Given the description of an element on the screen output the (x, y) to click on. 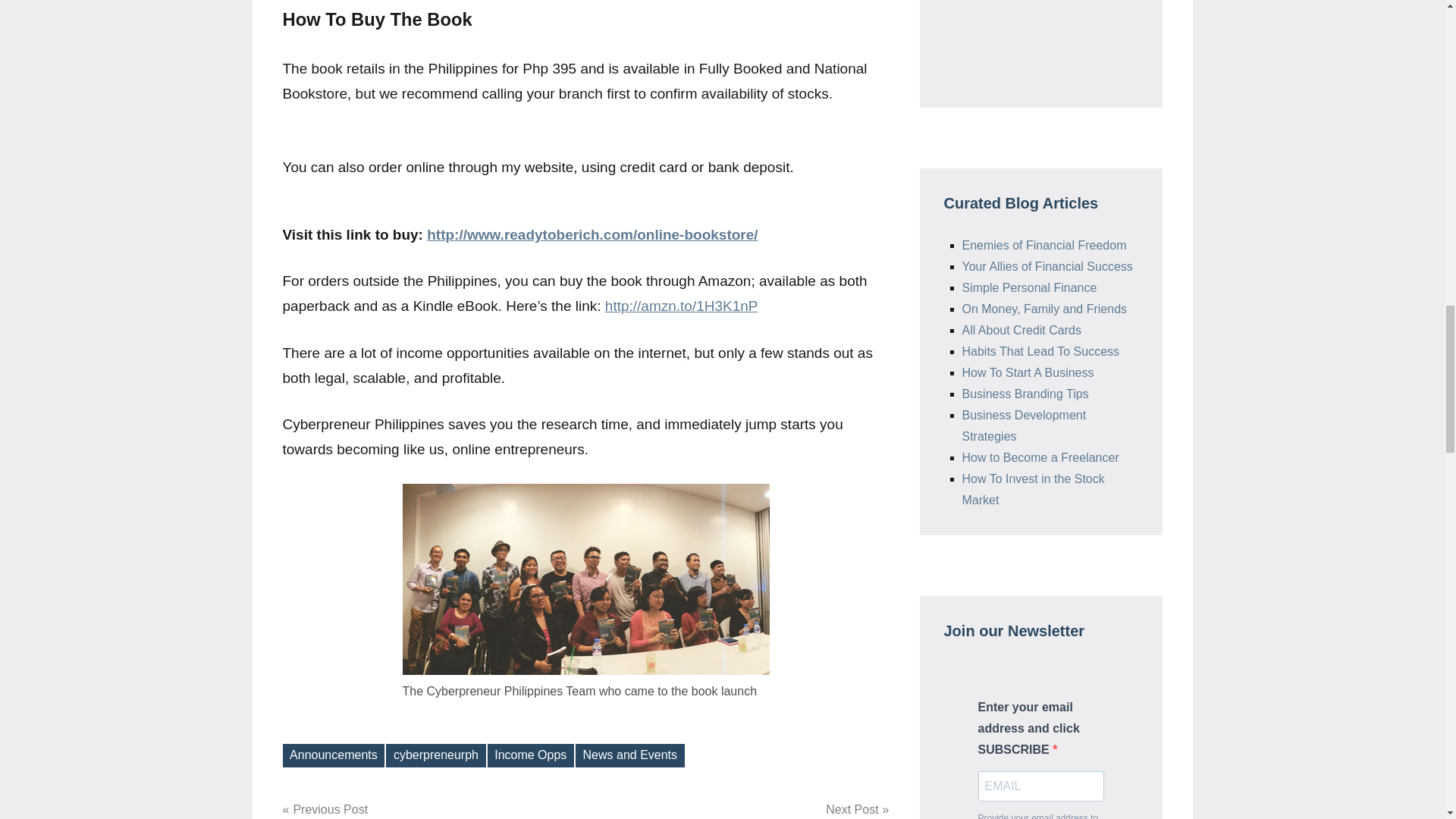
Income Opps (742, 809)
Announcements (530, 755)
cyberpreneurph (333, 755)
News and Events (434, 755)
